Given the description of an element on the screen output the (x, y) to click on. 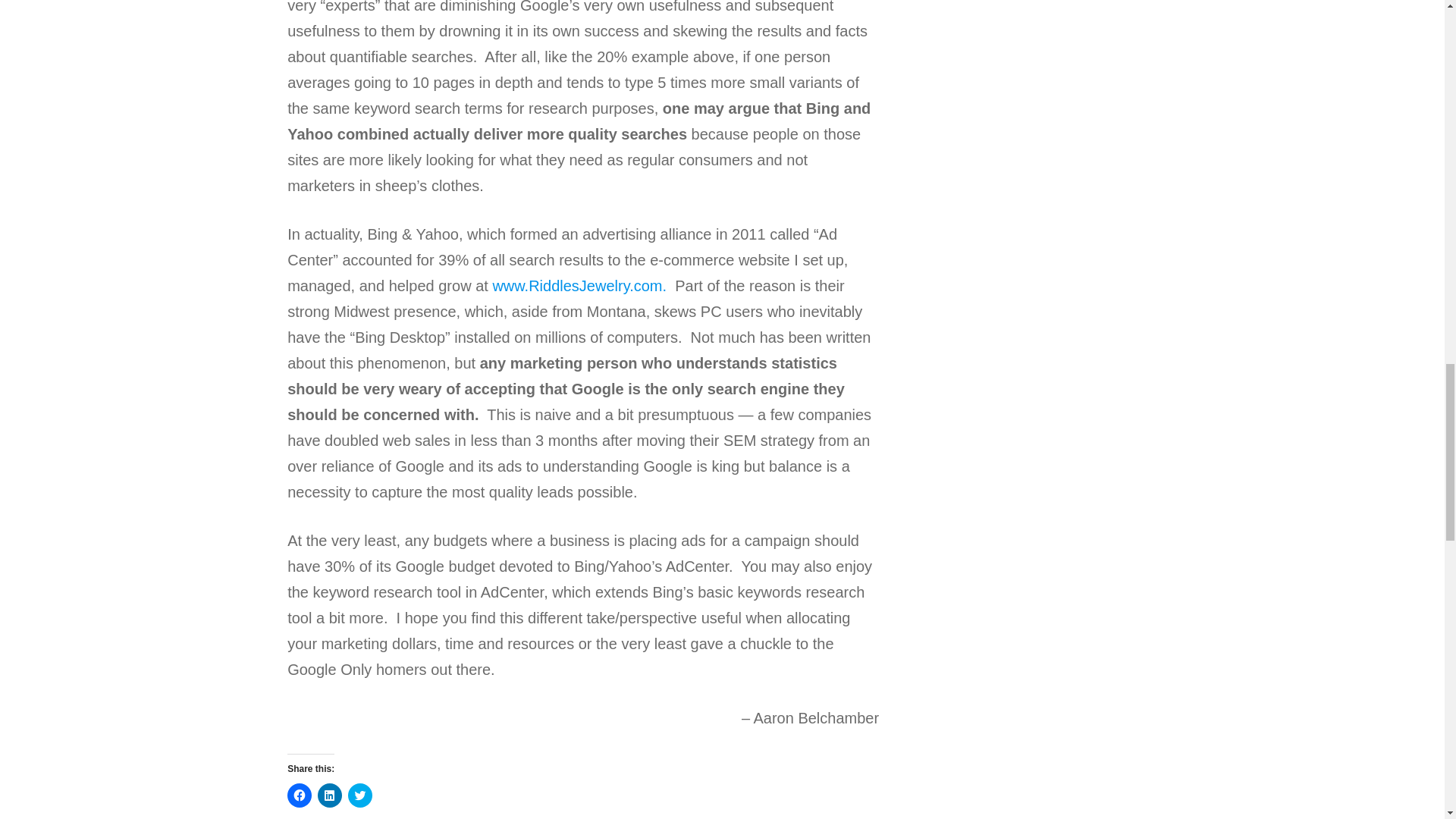
Riddle's Jewelry website (579, 285)
Click to share on Facebook (298, 794)
Click to share on LinkedIn (329, 794)
Click to share on Twitter (359, 794)
